Given the description of an element on the screen output the (x, y) to click on. 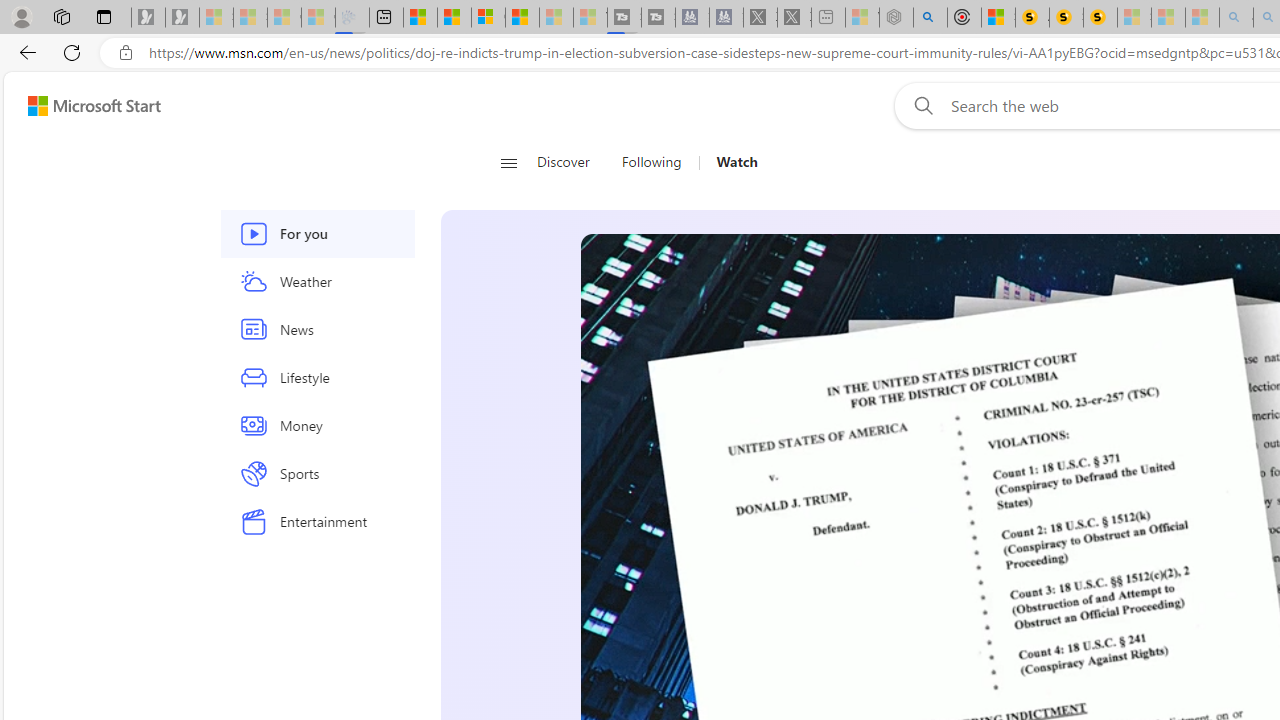
Skip to footer (82, 105)
Overview (488, 17)
Skip to content (86, 105)
Open navigation menu (508, 162)
Newsletter Sign Up - Sleeping (182, 17)
Wildlife - MSN - Sleeping (862, 17)
Streaming Coverage | T3 - Sleeping (624, 17)
Class: button-glyph (508, 162)
